Given the description of an element on the screen output the (x, y) to click on. 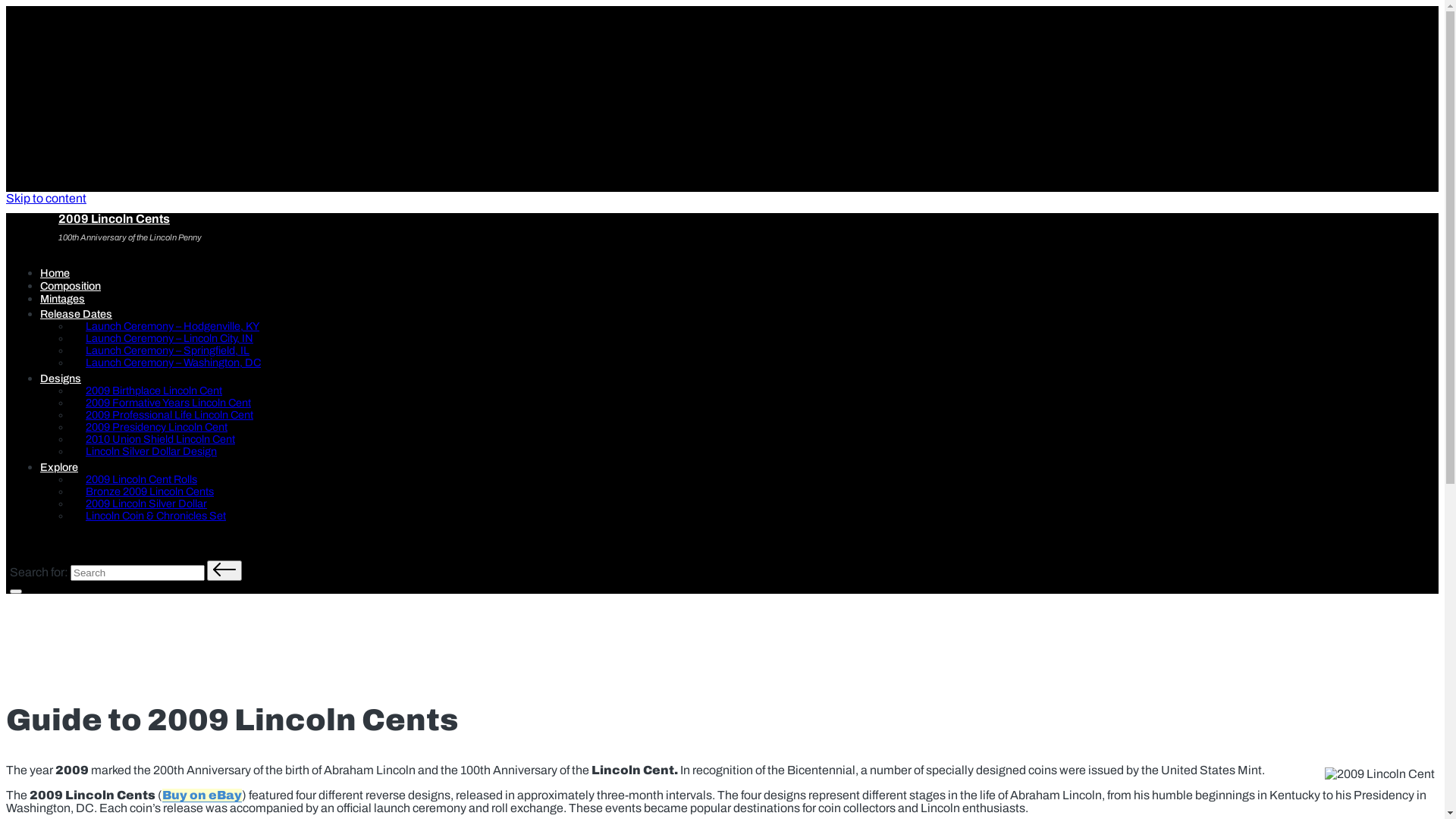
Release Dates Element type: text (88, 313)
Mintages Element type: text (62, 298)
Home Element type: text (54, 272)
2010 Union Shield Lincoln Cent Element type: text (163, 438)
Composition Element type: text (70, 285)
Explore Element type: text (71, 467)
2009 Presidency Lincoln Cent Element type: text (160, 426)
2009 Lincoln Silver Dollar Element type: text (149, 503)
Lincoln Coin & Chronicles Set Element type: text (159, 515)
Buy on eBay Element type: text (201, 794)
Skip to content Element type: text (46, 197)
Designs Element type: text (72, 378)
2009 Professional Life Lincoln Cent Element type: text (173, 414)
Bronze 2009 Lincoln Cents Element type: text (153, 491)
Lincoln Silver Dollar Design Element type: text (154, 450)
2009 Birthplace Lincoln Cent Element type: text (157, 390)
2009 Lincoln Cents Element type: text (113, 218)
2009 Lincoln Cent Rolls Element type: text (144, 478)
2009 Formative Years Lincoln Cent Element type: text (171, 402)
